Given the description of an element on the screen output the (x, y) to click on. 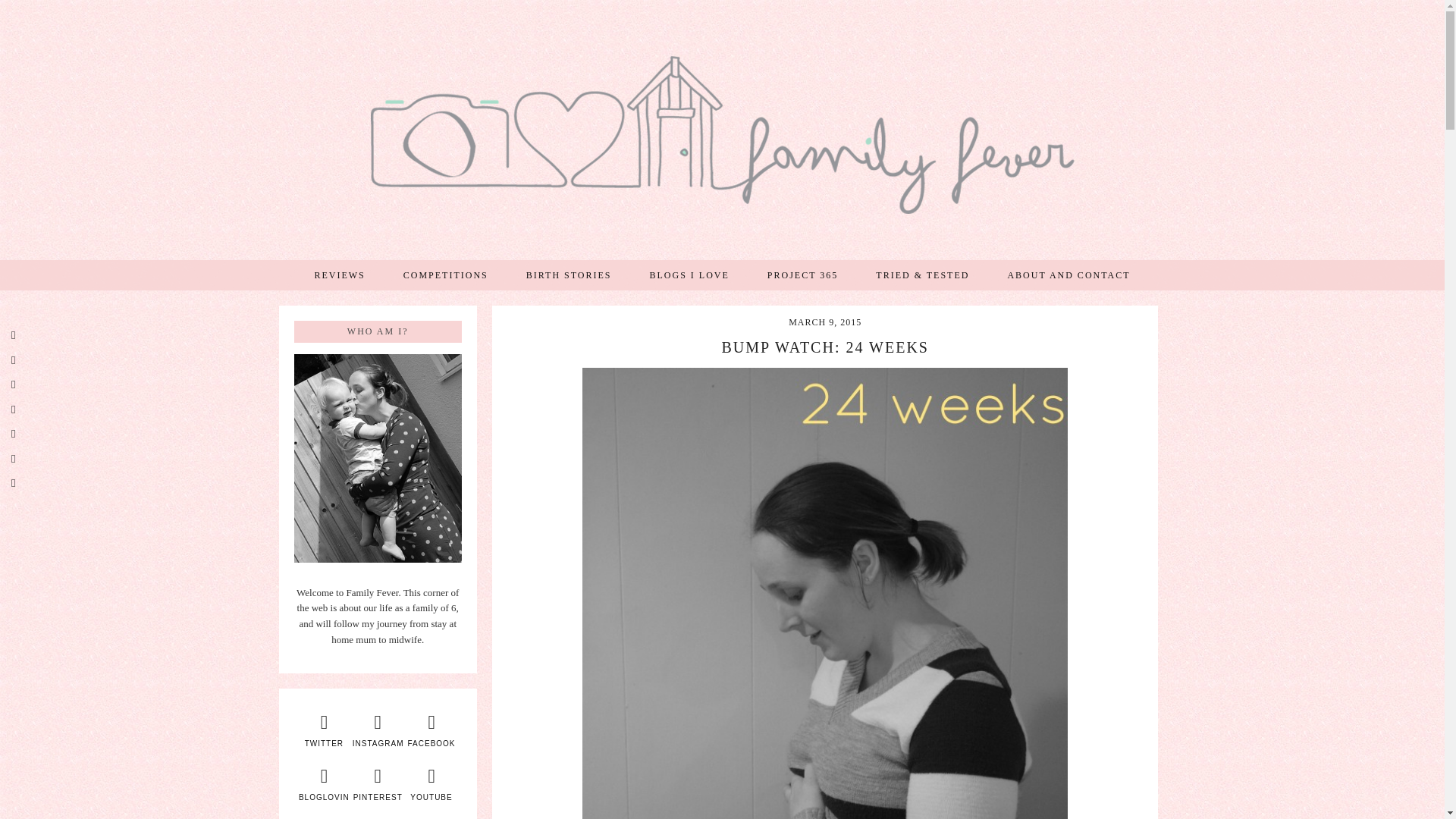
COMPETITIONS (445, 275)
PROJECT 365 (802, 275)
ABOUT AND CONTACT (1068, 275)
BIRTH STORIES (568, 275)
REVIEWS (339, 275)
BLOGS I LOVE (689, 275)
